Given the description of an element on the screen output the (x, y) to click on. 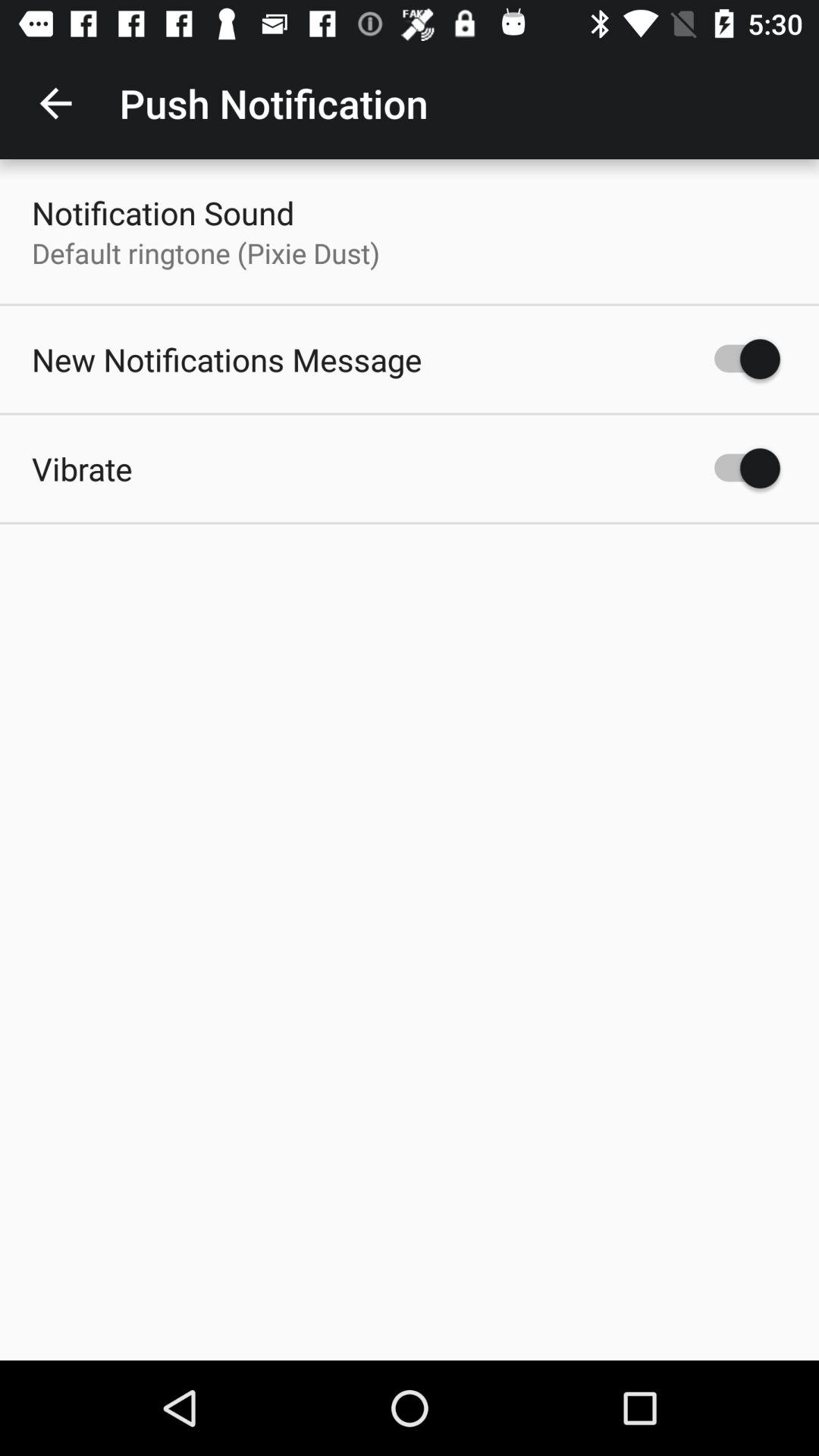
scroll until new notifications message item (226, 359)
